Given the description of an element on the screen output the (x, y) to click on. 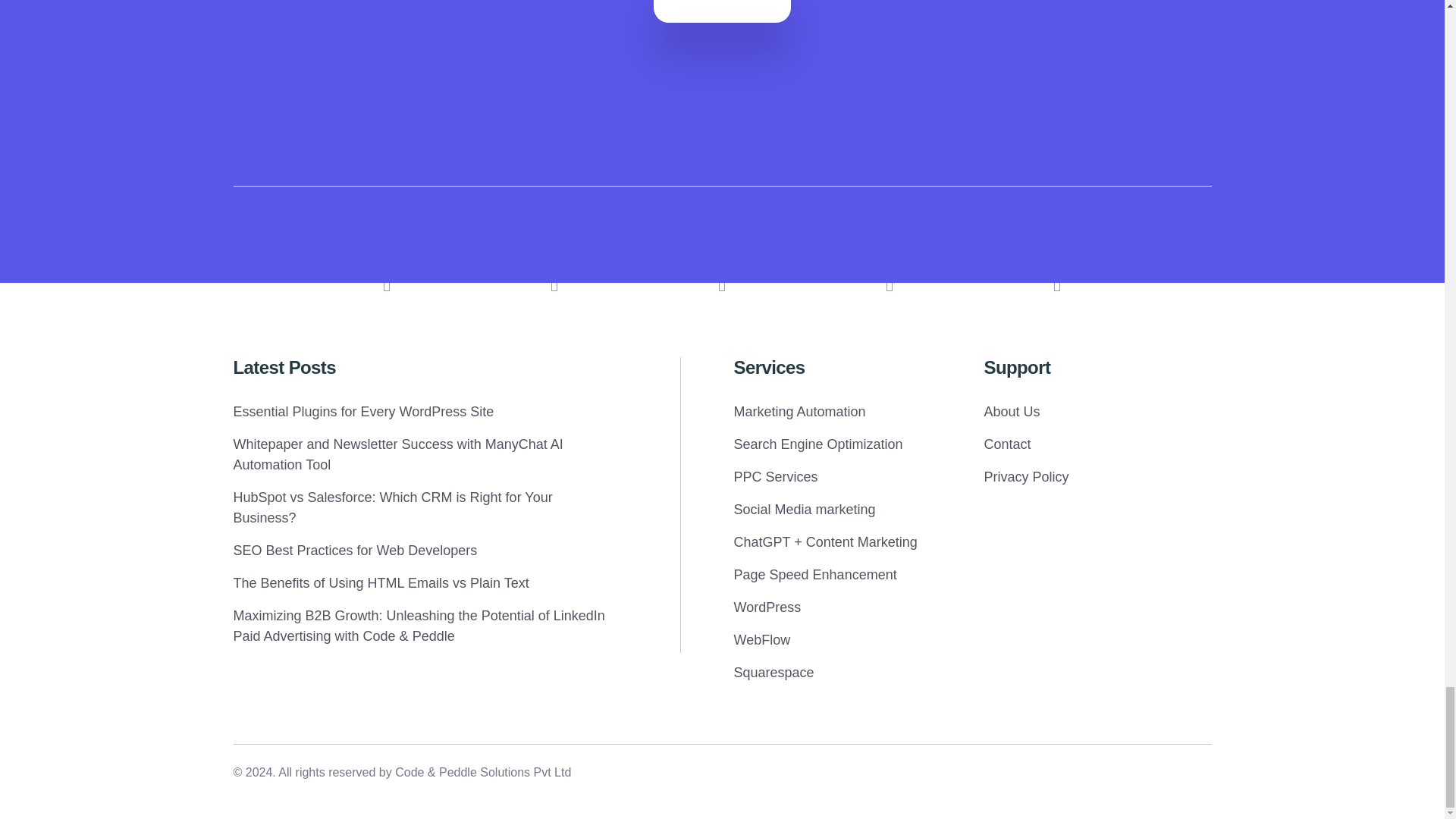
Youtube (722, 282)
Facebook-f (1057, 282)
Twitter (890, 282)
Linkedin-in (386, 282)
Instagram (554, 282)
